Given the description of an element on the screen output the (x, y) to click on. 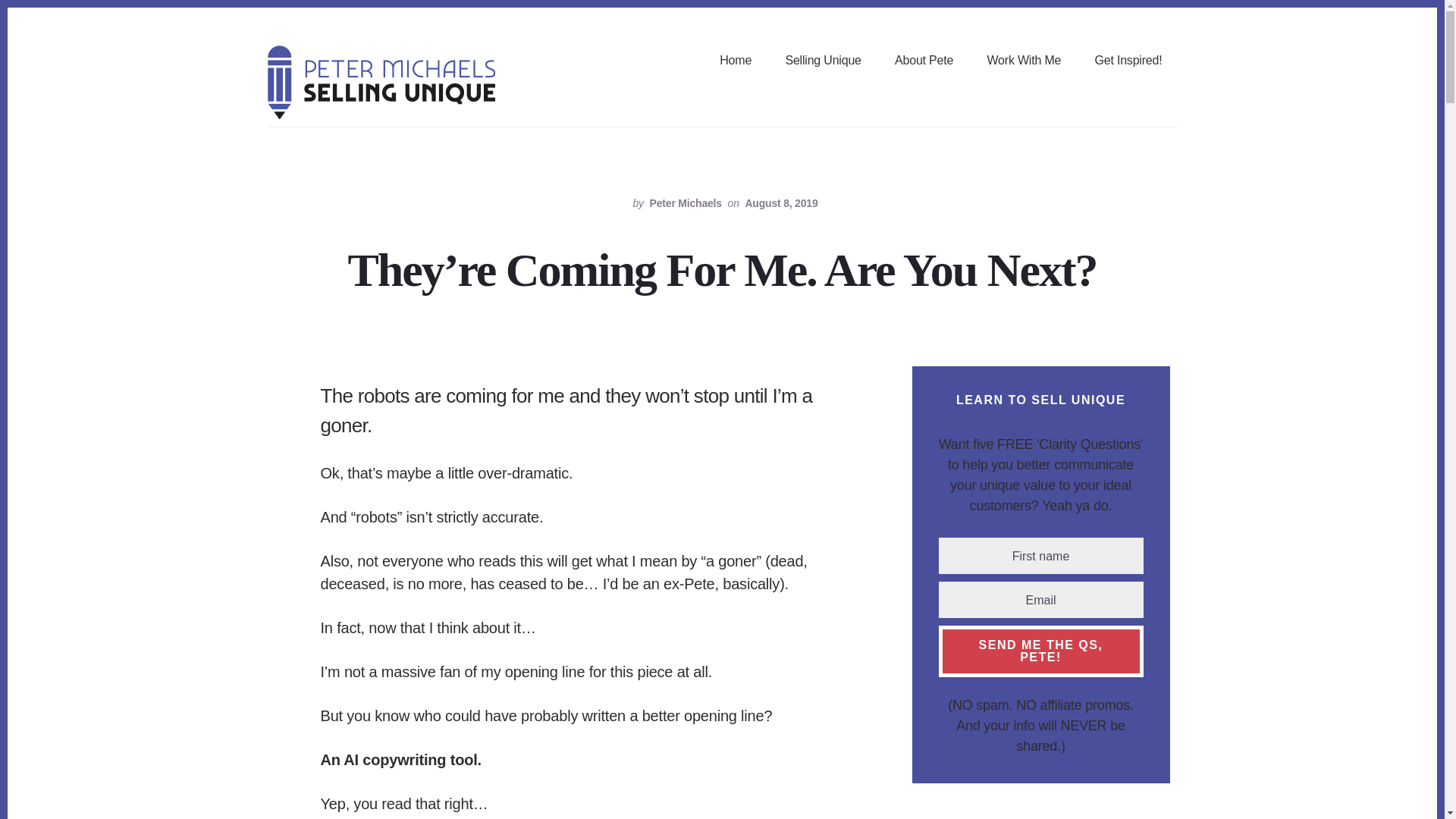
Work With Me (1024, 61)
Home (735, 61)
SEND ME THE QS, PETE! (1040, 651)
Peter Michaels (685, 203)
Selling Unique (822, 61)
About Pete (923, 61)
Get Inspired! (1127, 61)
SEND ME THE QS, PETE! (1040, 651)
